Given the description of an element on the screen output the (x, y) to click on. 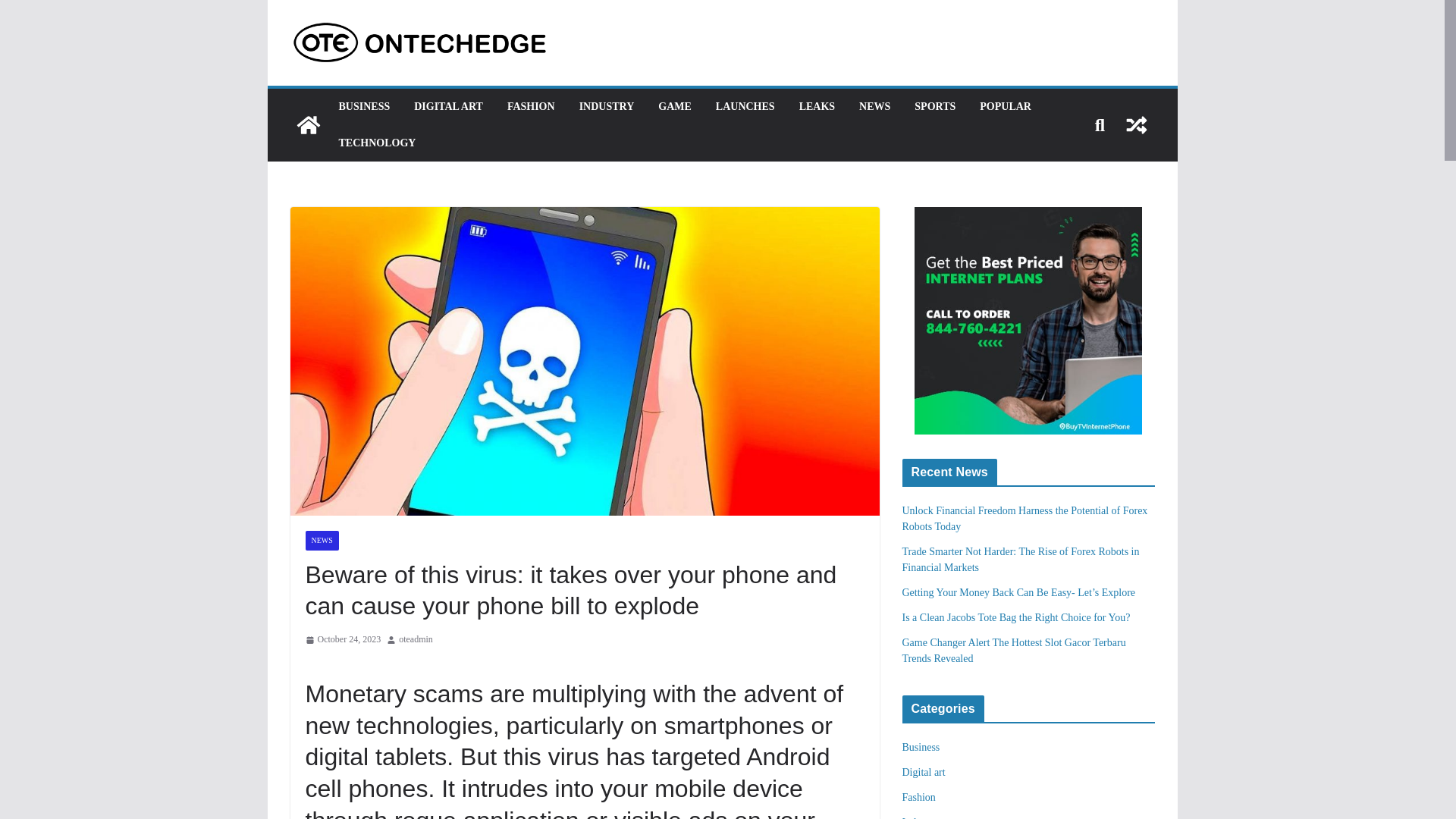
GAME (674, 106)
LEAKS (816, 106)
Is a Clean Jacobs Tote Bag the Right Choice for You? (1016, 617)
NEWS (874, 106)
OnTechEdge (307, 125)
FASHION (530, 106)
7:58 pm (342, 639)
SPORTS (934, 106)
